Given the description of an element on the screen output the (x, y) to click on. 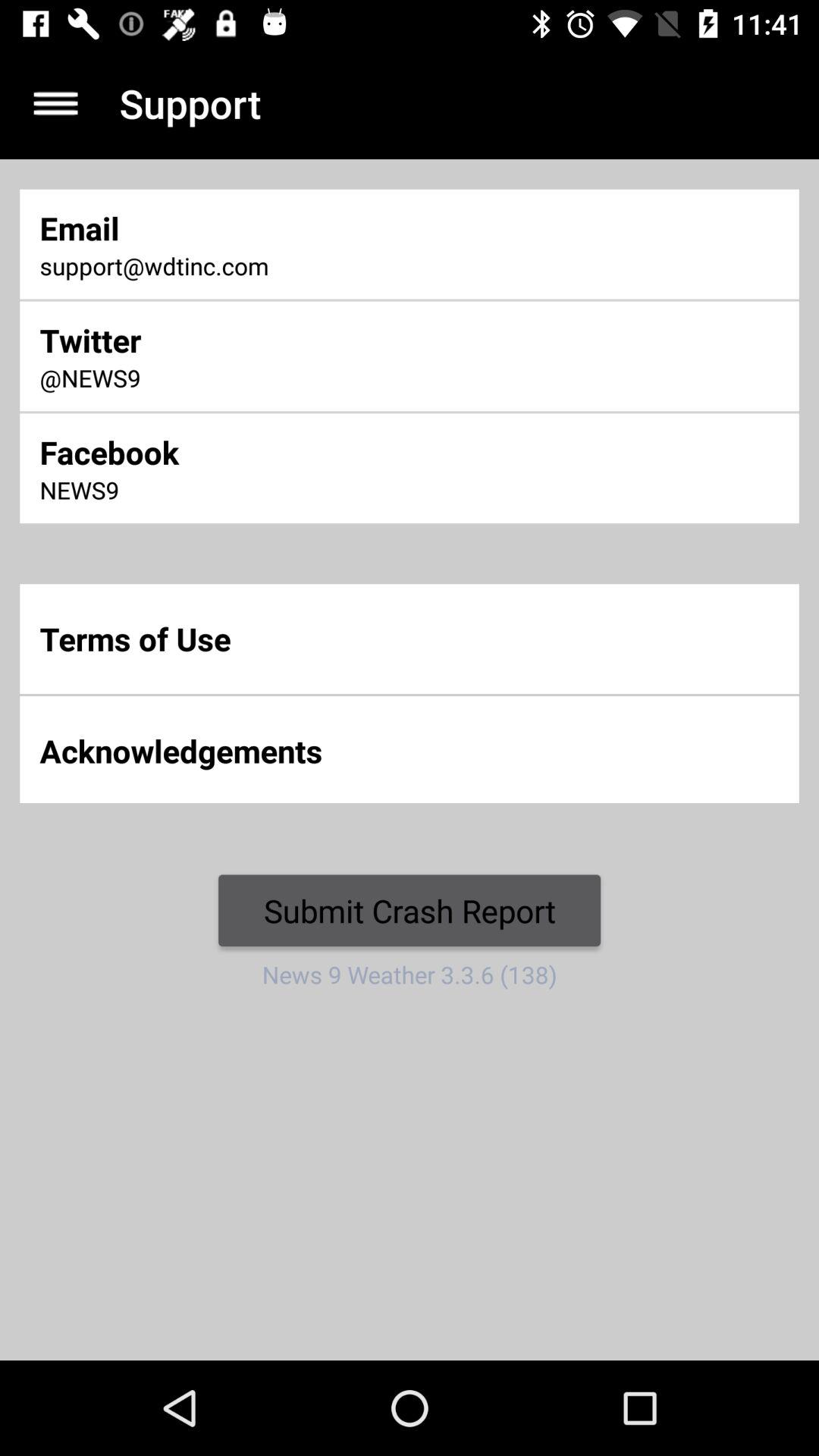
navigation menu (55, 103)
